Given the description of an element on the screen output the (x, y) to click on. 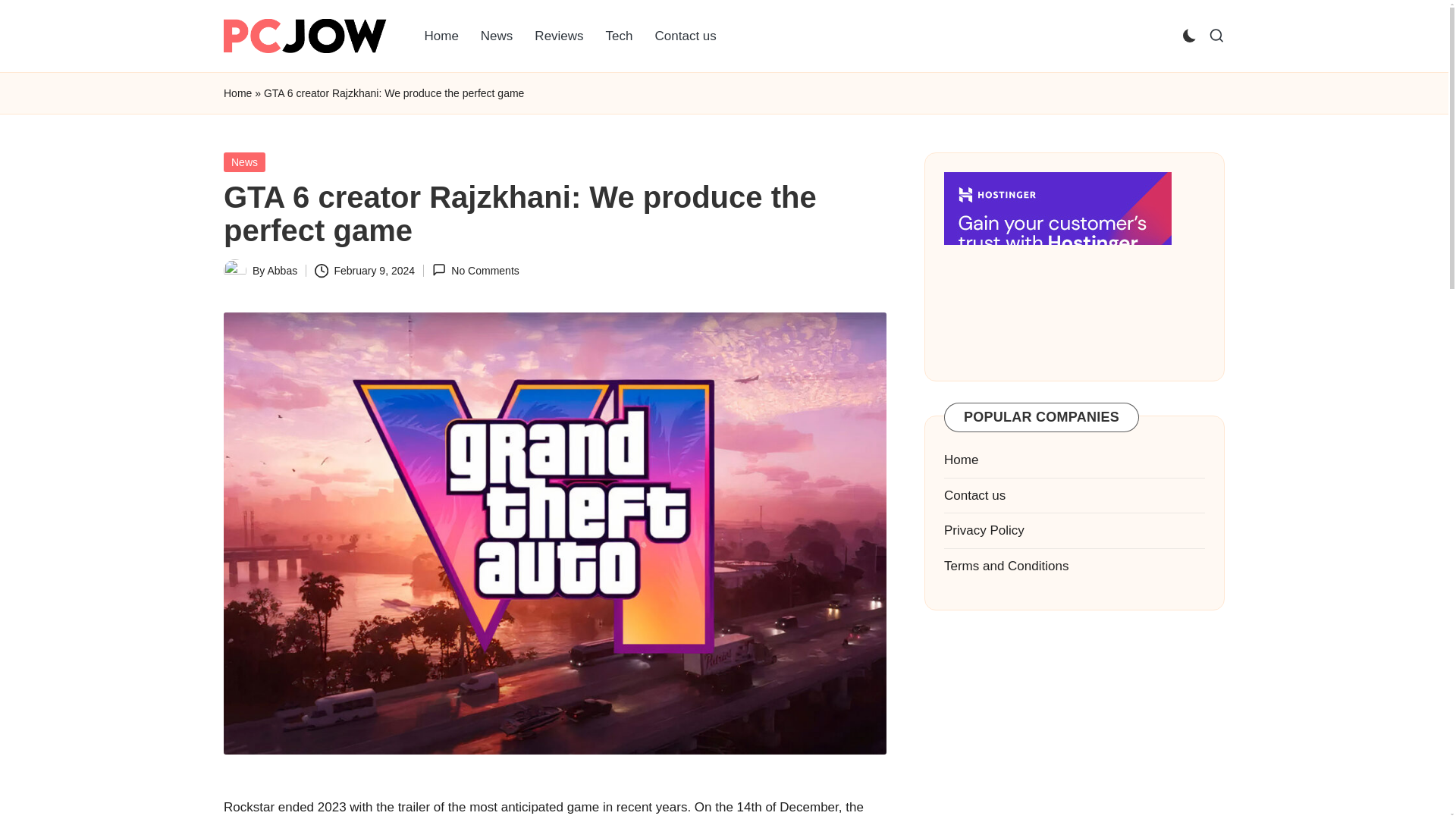
Home (440, 36)
News (244, 161)
Tech (619, 36)
Home (237, 93)
News (497, 36)
Privacy Policy (984, 530)
Home (960, 459)
Contact us (685, 36)
Reviews (559, 36)
View all posts by Abbas (281, 270)
